Given the description of an element on the screen output the (x, y) to click on. 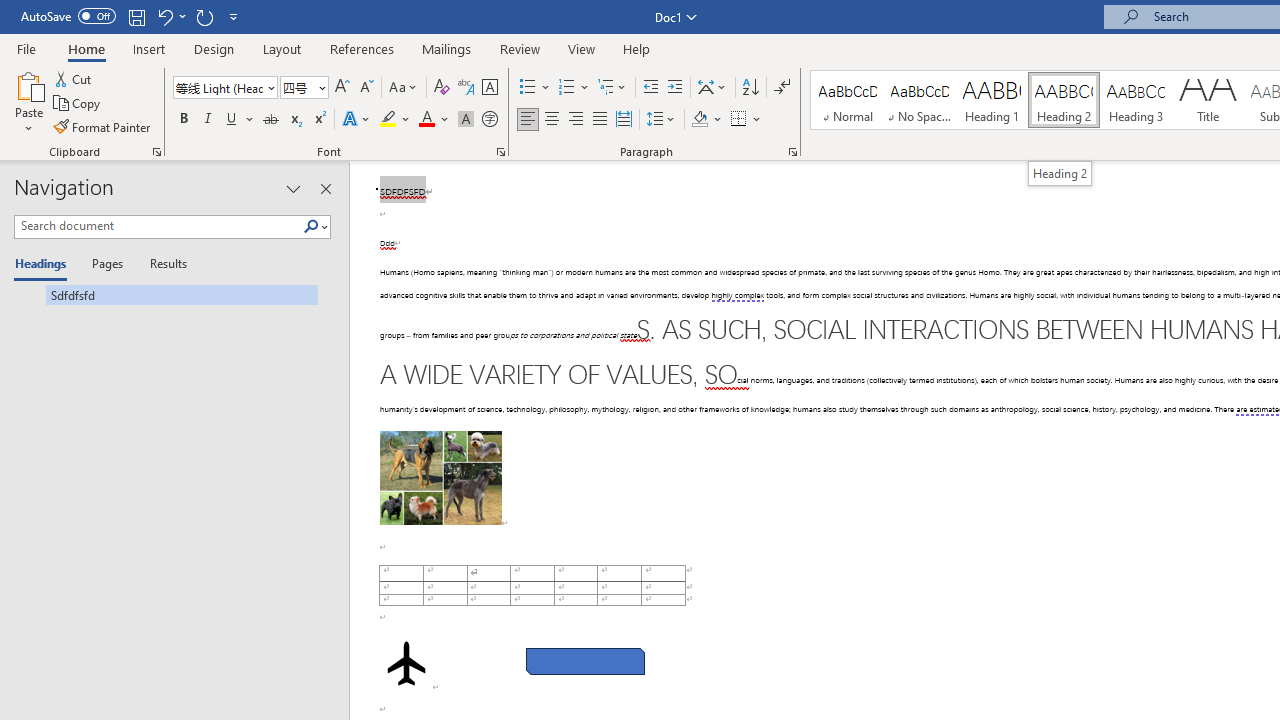
Strikethrough (270, 119)
Shading RGB(0, 0, 0) (699, 119)
Subscript (294, 119)
Justify (599, 119)
Decrease Indent (650, 87)
Show/Hide Editing Marks (781, 87)
Office Clipboard... (156, 151)
Align Right (575, 119)
Font... (500, 151)
Phonetic Guide... (465, 87)
Align Left (527, 119)
